Given the description of an element on the screen output the (x, y) to click on. 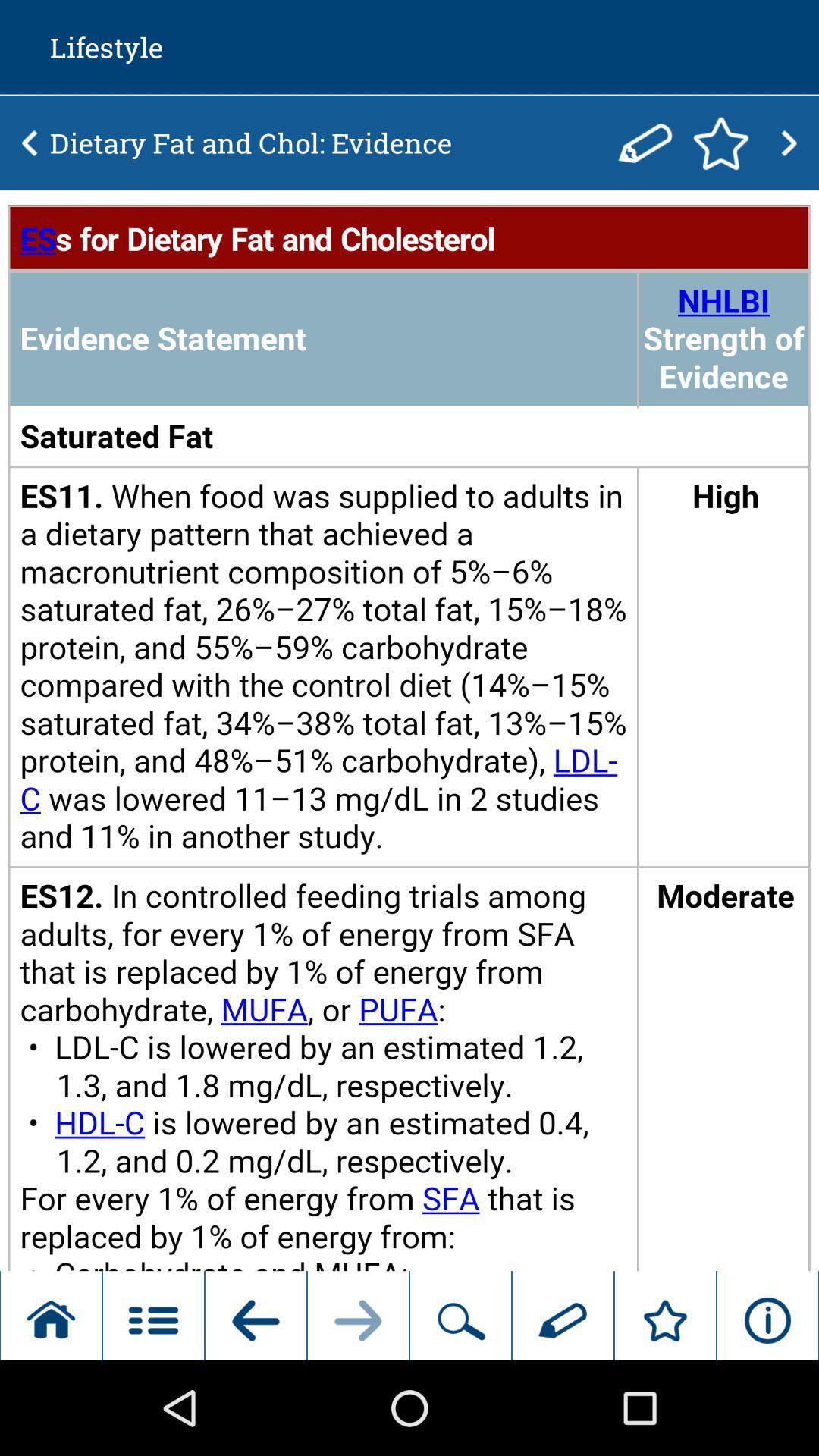
show information (409, 731)
